Given the description of an element on the screen output the (x, y) to click on. 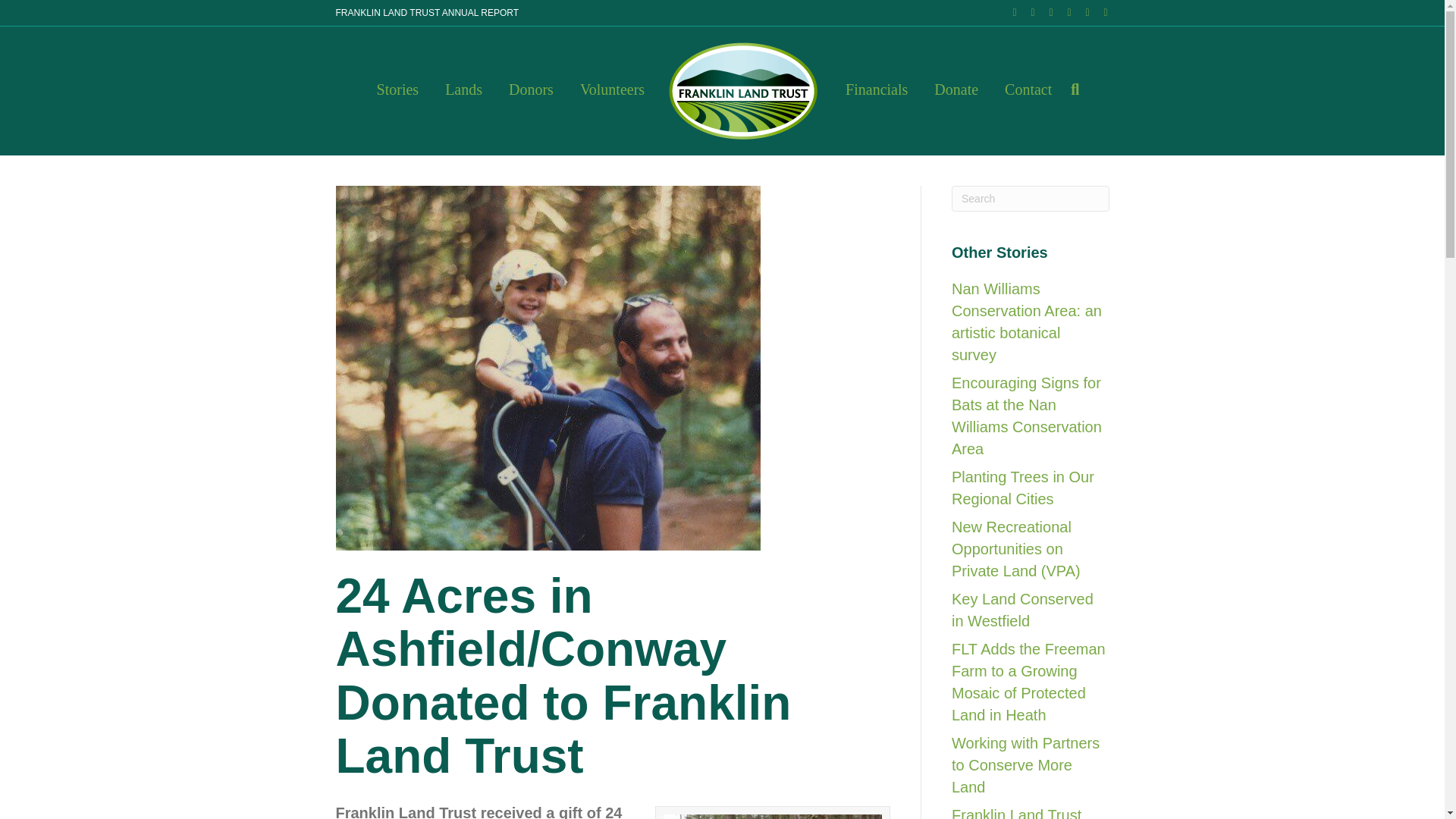
Donors (530, 89)
Youtube (1061, 11)
Planting Trees in Our Regional Cities (1023, 487)
Working with Partners to Conserve More Land (1025, 764)
Facebook (1006, 11)
Pinterest (1042, 11)
Instagram (1079, 11)
Financials (876, 89)
